Given the description of an element on the screen output the (x, y) to click on. 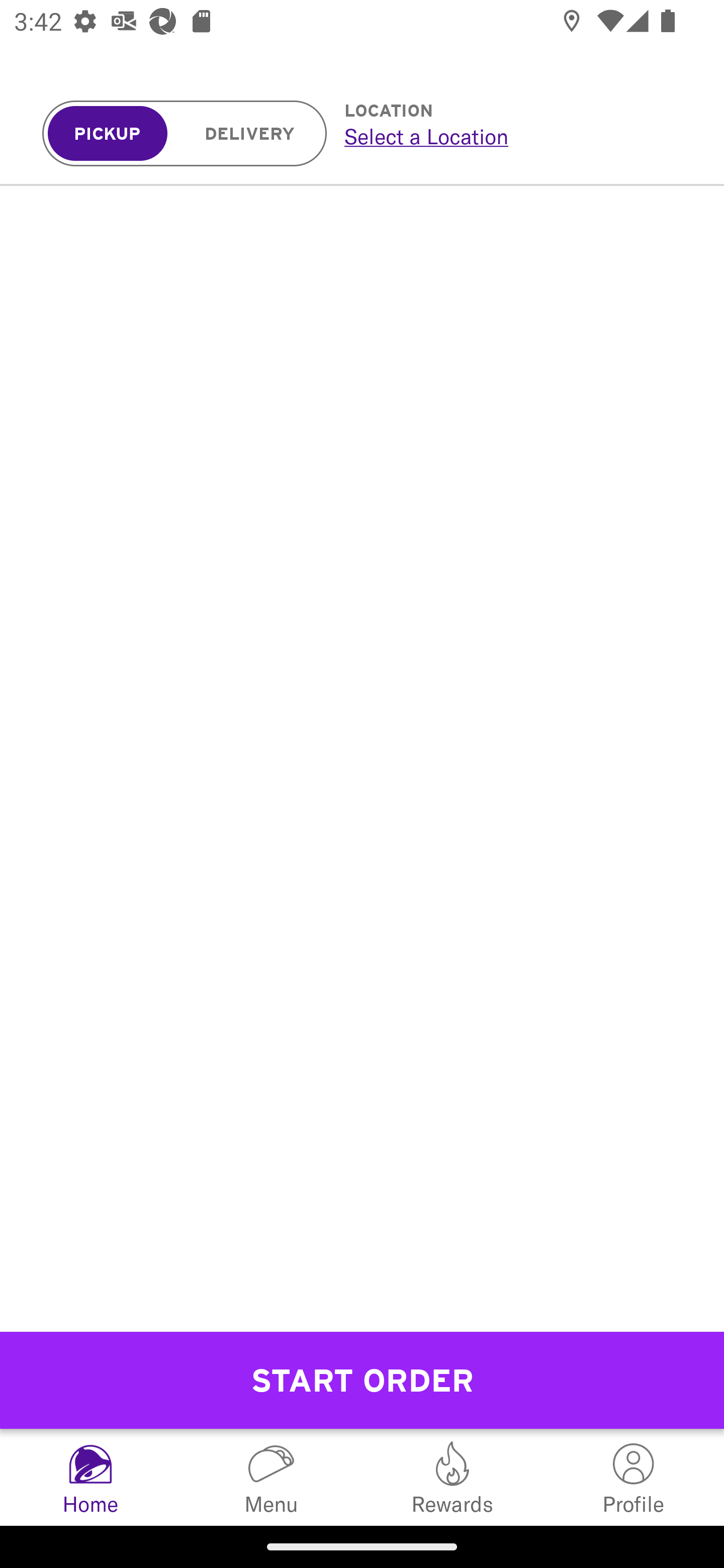
PICKUP (107, 133)
DELIVERY (249, 133)
Select a Location (511, 136)
START ORDER (362, 1379)
Home (90, 1476)
Menu (271, 1476)
Rewards (452, 1476)
My Info Profile (633, 1476)
